Given the description of an element on the screen output the (x, y) to click on. 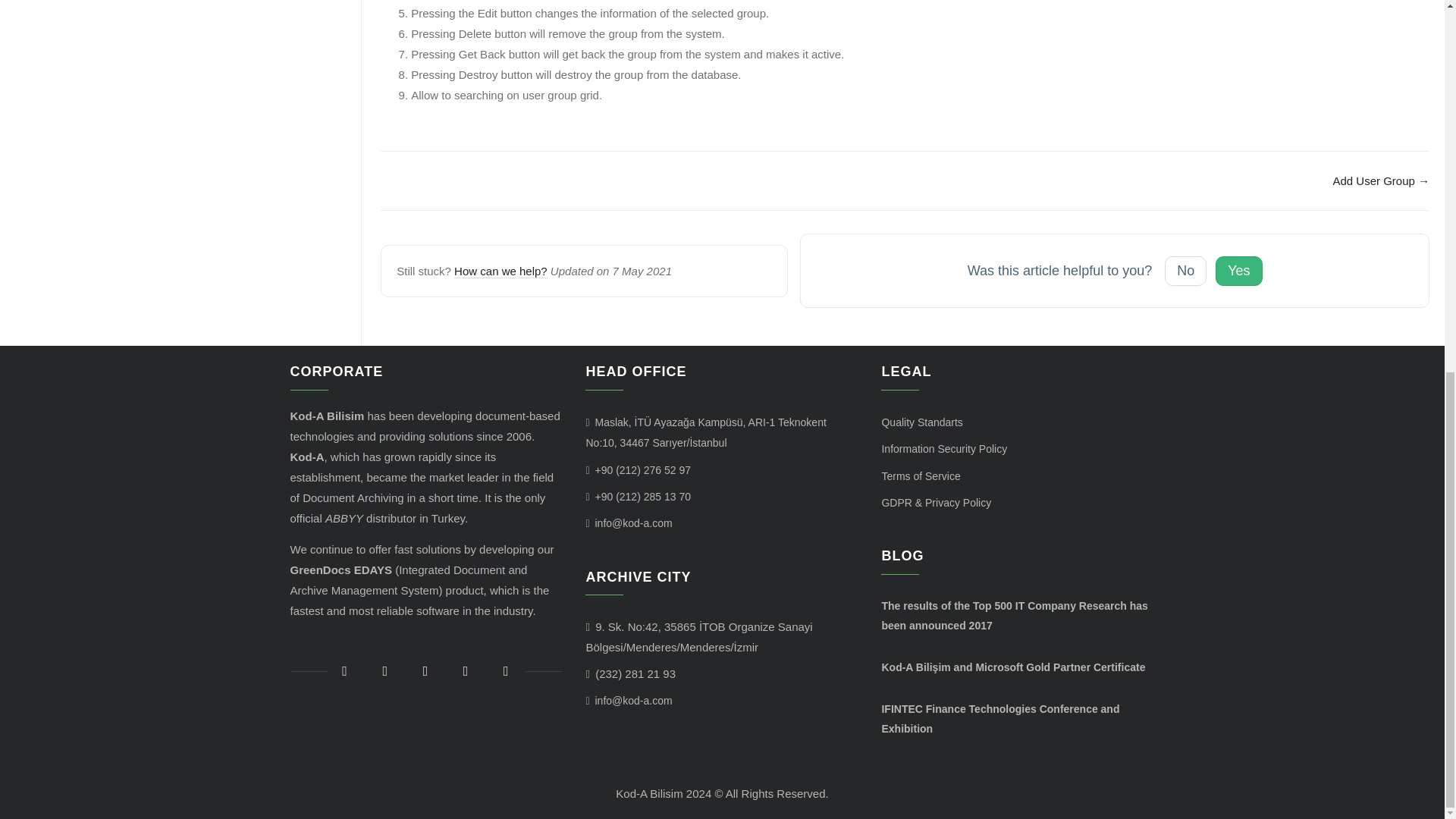
No votes yet (1185, 270)
No votes yet (1238, 270)
